Given the description of an element on the screen output the (x, y) to click on. 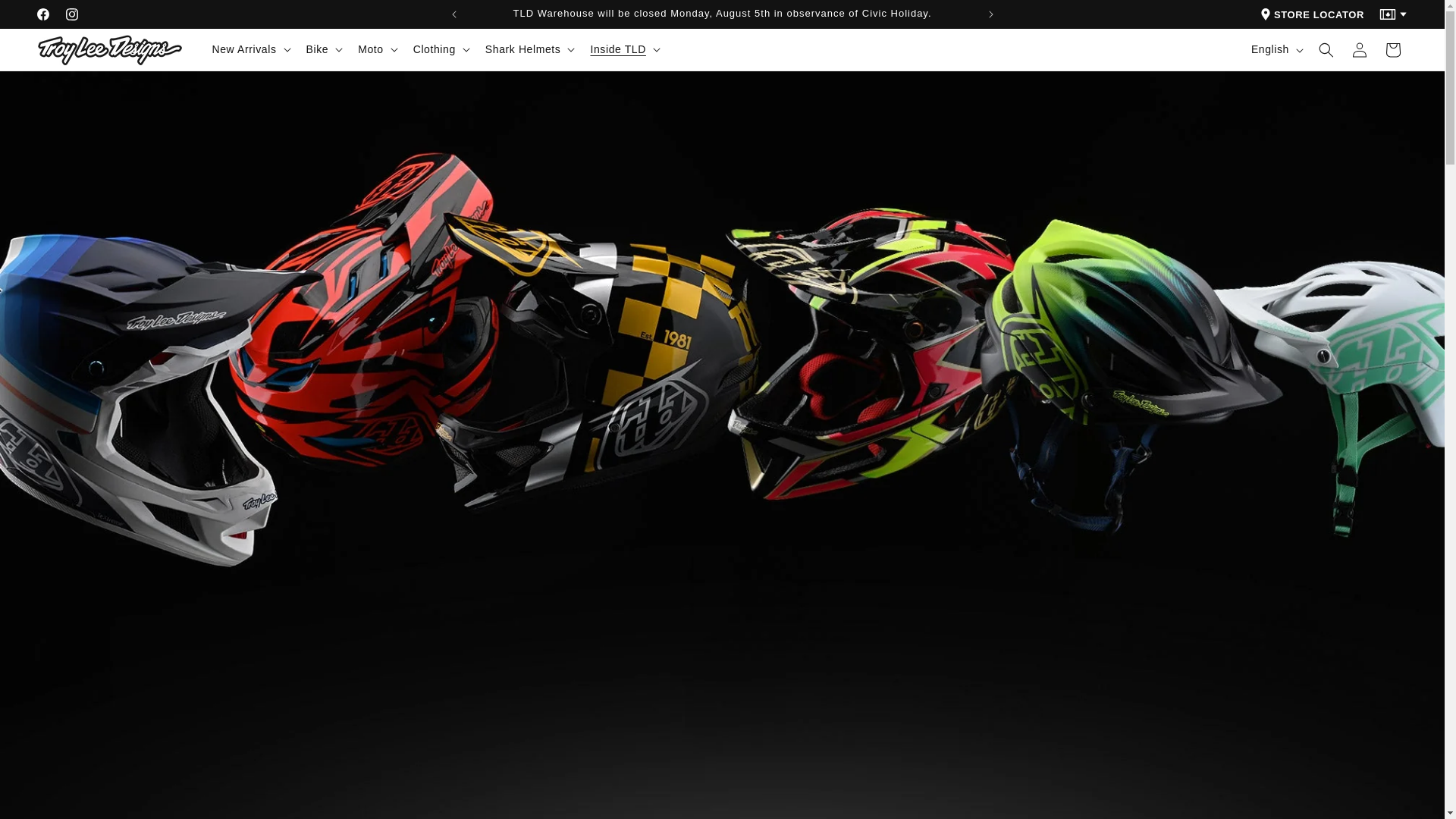
Skip to content (45, 17)
Facebook (43, 14)
STORE LOCATOR (1312, 15)
Instagram (71, 14)
